Given the description of an element on the screen output the (x, y) to click on. 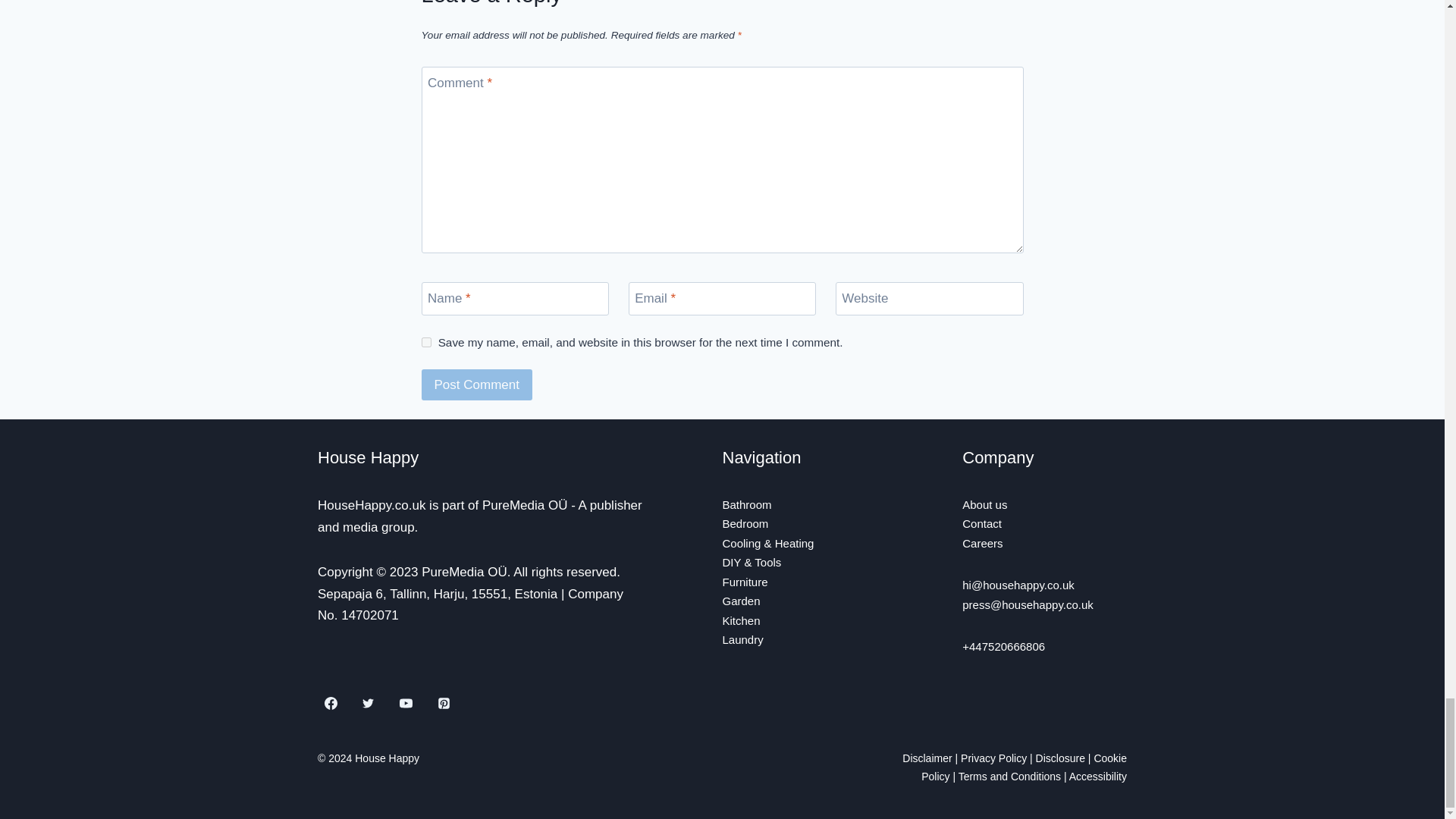
Bathroom (746, 504)
Kitchen (741, 620)
Bedroom (745, 522)
Post Comment (477, 384)
Laundry (742, 639)
Furniture (744, 581)
Garden (741, 600)
Post Comment (477, 384)
About us (984, 504)
yes (426, 342)
